Given the description of an element on the screen output the (x, y) to click on. 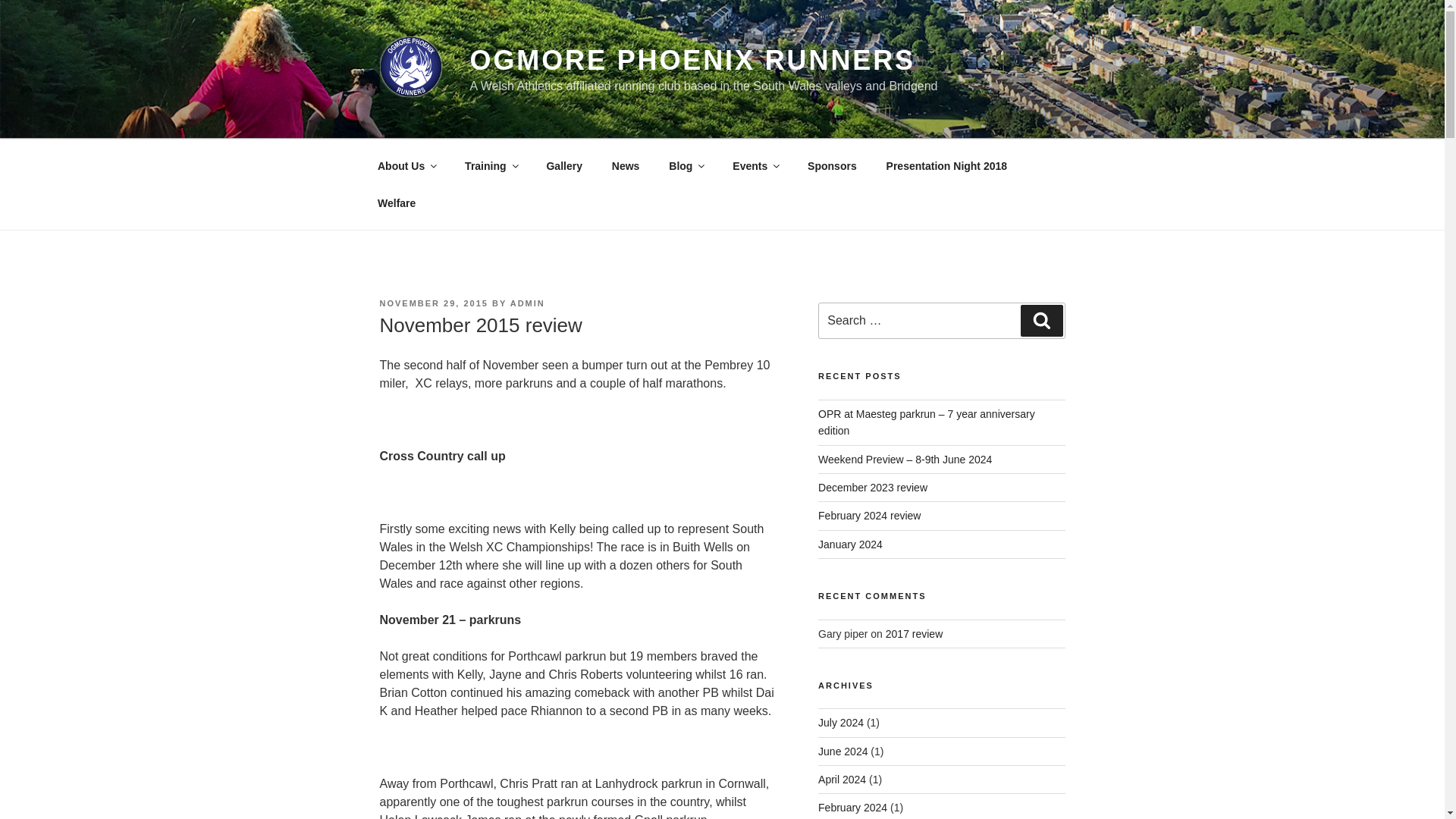
NOVEMBER 29, 2015 (432, 302)
Welfare (396, 203)
Sponsors (832, 165)
About Us (406, 165)
Search (1041, 320)
Events (755, 165)
Training (490, 165)
Blog (686, 165)
ADMIN (527, 302)
Presentation Night 2018 (946, 165)
News (625, 165)
OGMORE PHOENIX RUNNERS (692, 60)
Gallery (563, 165)
